Given the description of an element on the screen output the (x, y) to click on. 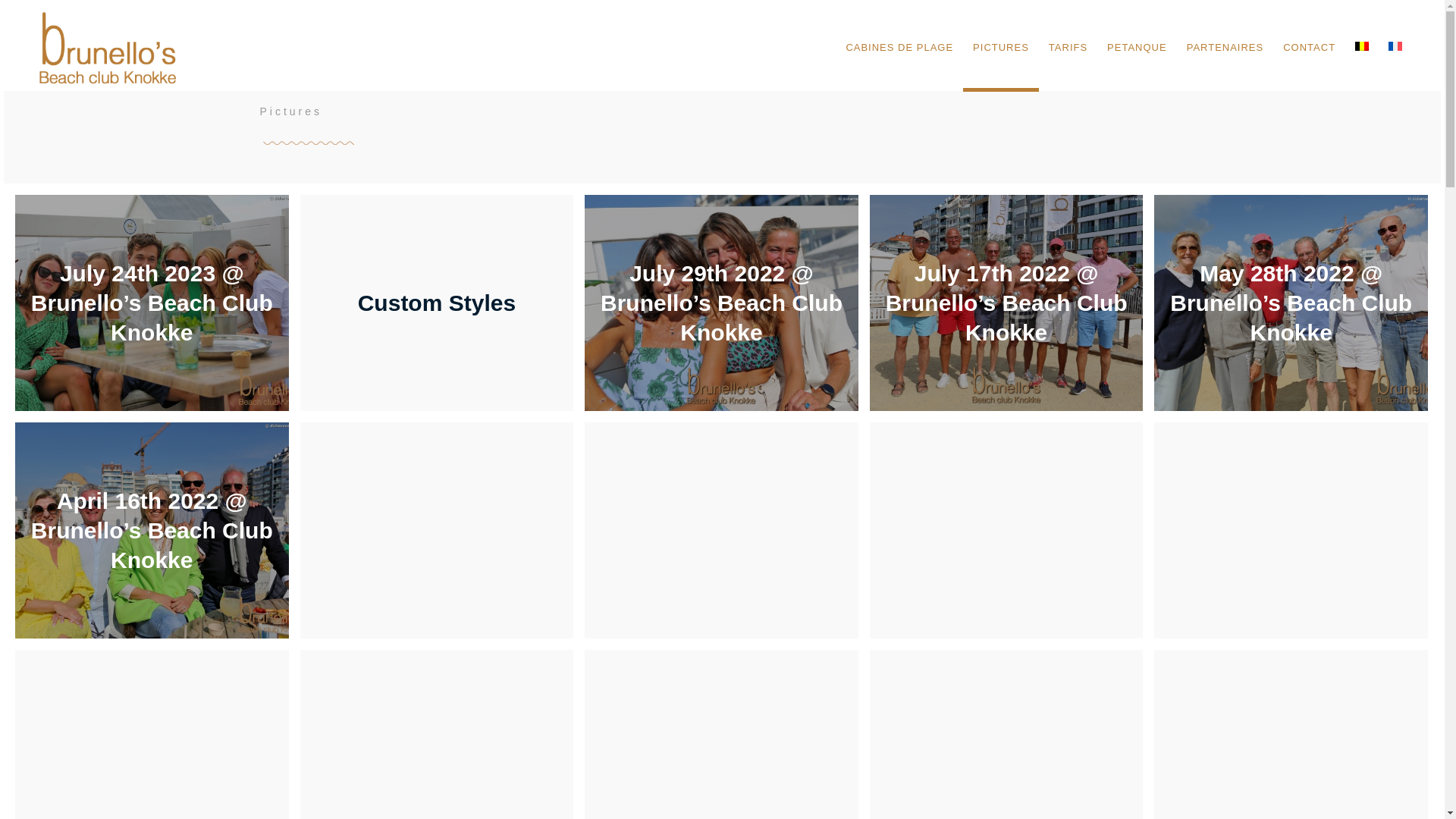
2 Element type: hover (151, 302)
logo-goud Element type: hover (108, 47)
TARIFS Element type: text (1067, 47)
1 Element type: hover (1290, 302)
CABINES DE PLAGE Element type: text (899, 47)
PARTENAIRES Element type: text (1225, 47)
1 Element type: hover (1006, 302)
CONTACT Element type: text (1309, 47)
PICTURES Element type: text (1000, 47)
1 Element type: hover (721, 302)
1 Element type: hover (151, 530)
Custom Styles Element type: text (442, 307)
PETANQUE Element type: text (1136, 47)
FR Element type: hover (1395, 45)
NL Element type: hover (1361, 45)
lijntje Element type: hover (308, 143)
